Given the description of an element on the screen output the (x, y) to click on. 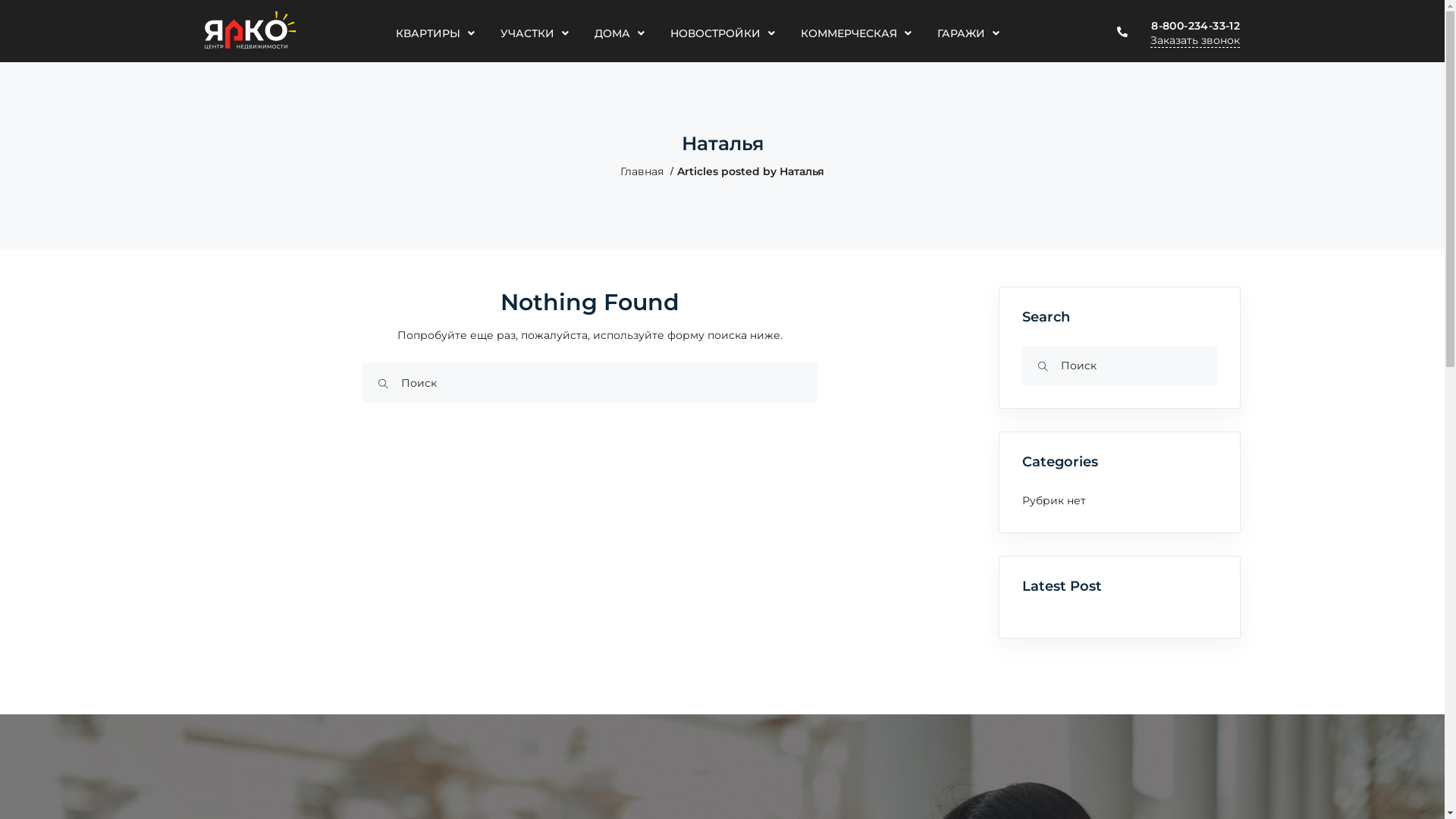
8-800-234-33-12 Element type: text (1195, 25)
